Given the description of an element on the screen output the (x, y) to click on. 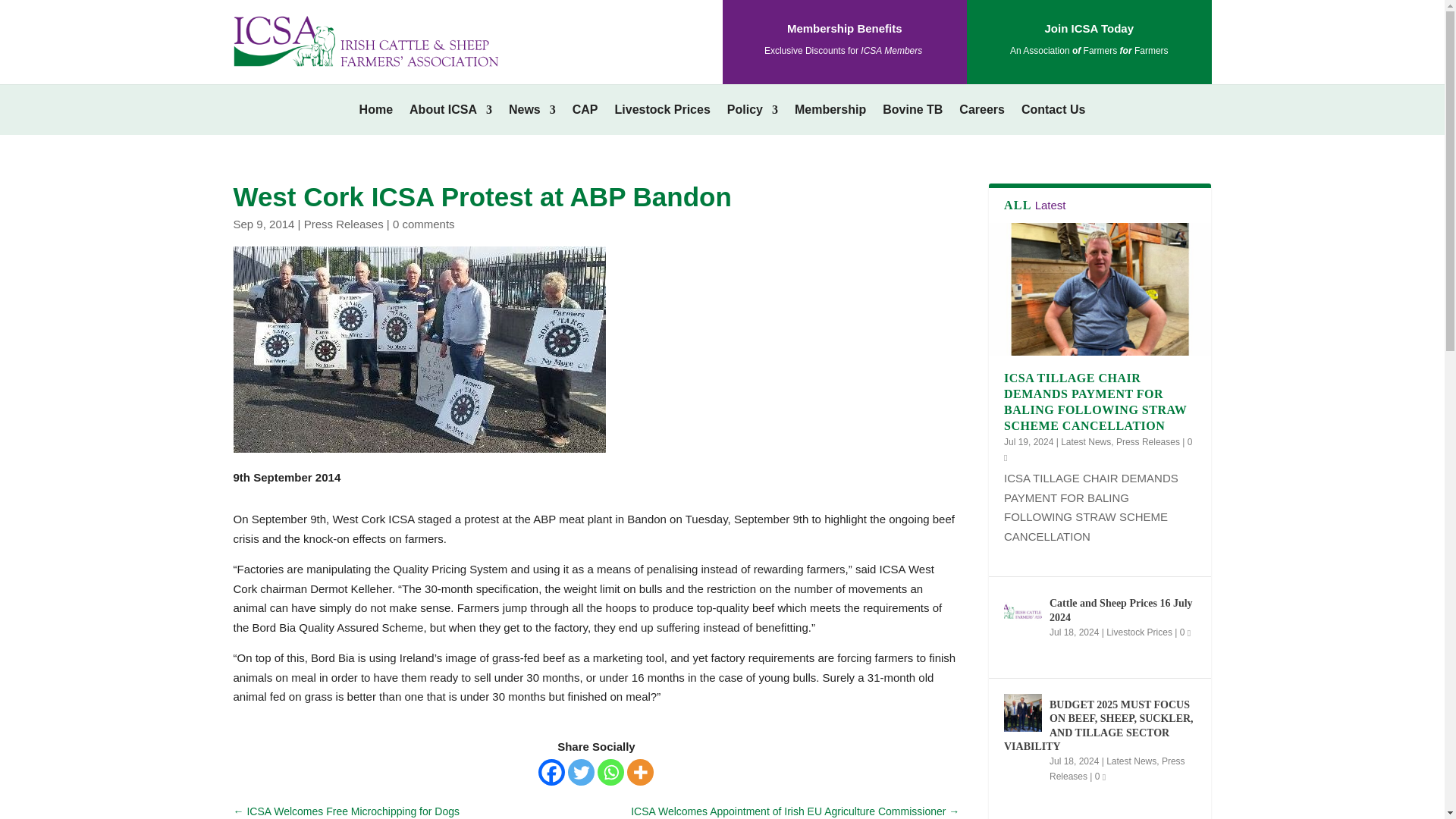
logo (379, 40)
Policy (751, 112)
Twitter (580, 771)
Contact Us (1053, 112)
CAP (585, 112)
About ICSA (450, 112)
Bandon protest 2 (418, 348)
Livestock Prices (662, 112)
Home (376, 112)
More (640, 771)
Membership (830, 112)
Bovine TB (912, 112)
Cattle and Sheep Prices 16 July 2024 (1023, 610)
Careers (981, 112)
Whatsapp (610, 771)
